Given the description of an element on the screen output the (x, y) to click on. 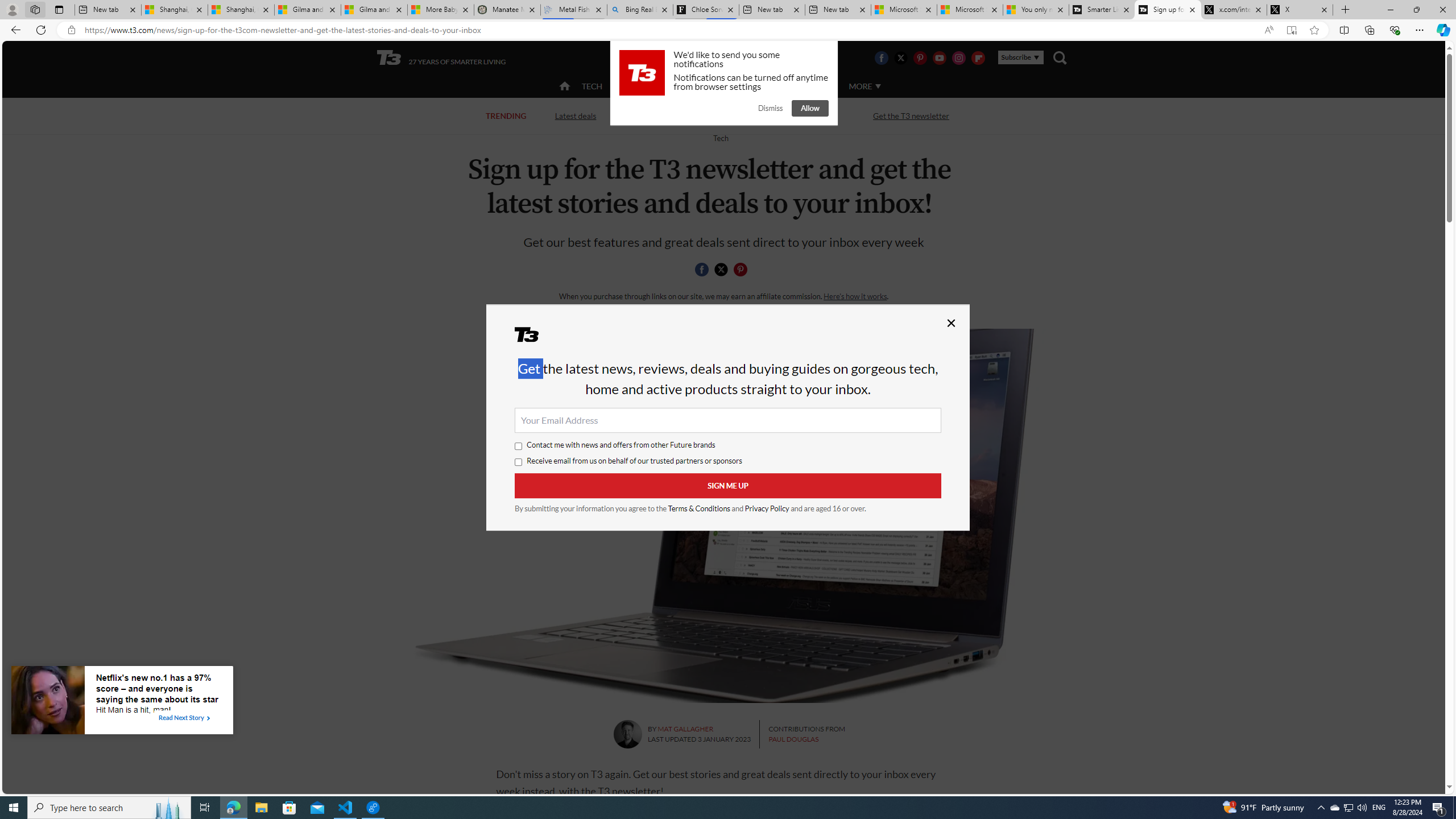
Manatee Mortality Statistics | FWC (507, 9)
Class: tbl-arrow-icon arrow-1 (208, 717)
Visit us on Youtube (938, 57)
Dismiss (770, 107)
Privacy Policy (766, 508)
Microsoft Start Sports (904, 9)
TECH (591, 85)
Share this page on Facebook (701, 269)
Mat Gallagher (627, 734)
Your Email Address (727, 420)
t3.com Logo (641, 72)
Class: navigation__search (1059, 57)
